Given the description of an element on the screen output the (x, y) to click on. 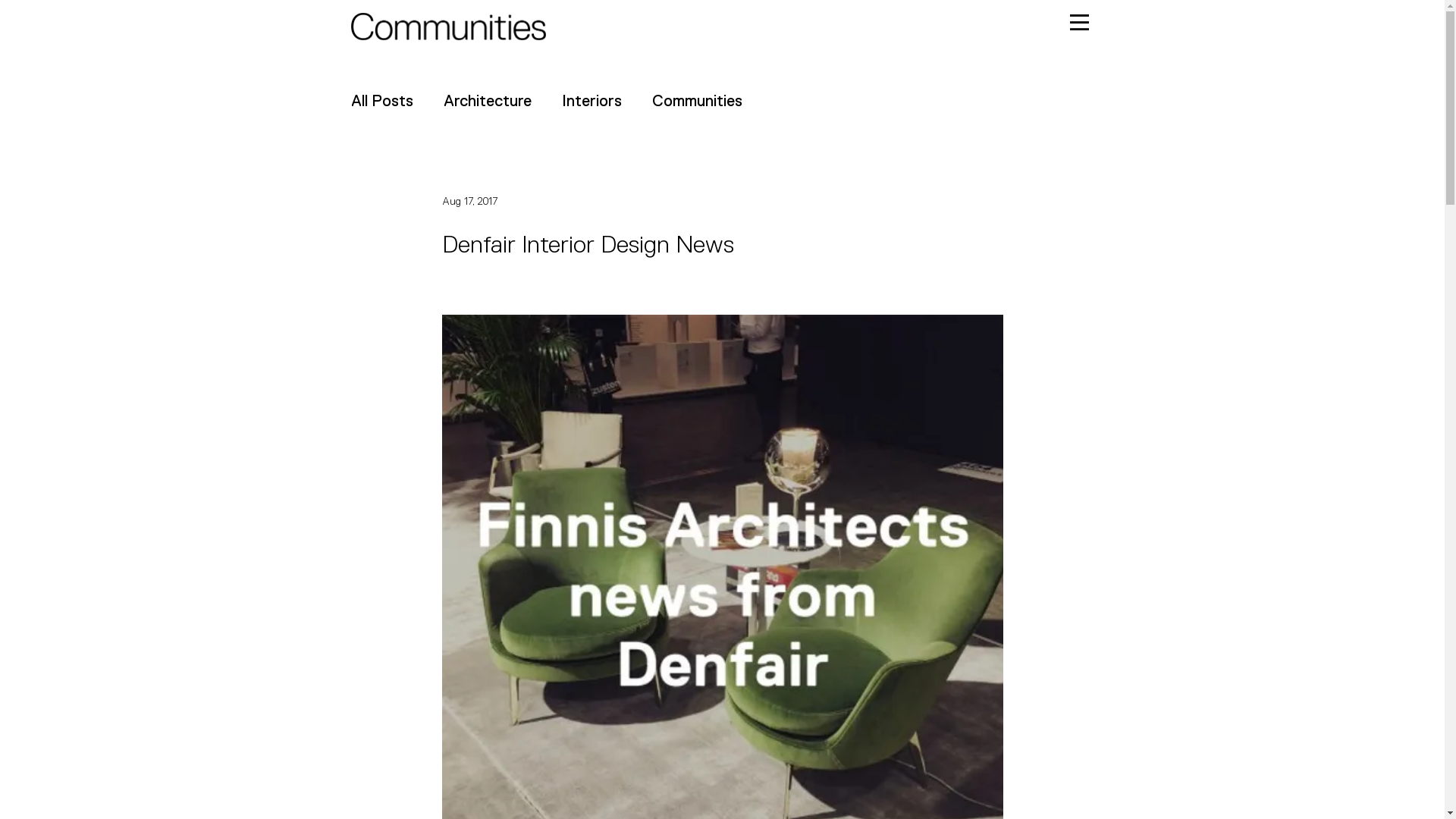
Communities Element type: text (697, 100)
All Posts Element type: text (381, 100)
Interiors Element type: text (591, 100)
Architecture Element type: text (486, 100)
